Given the description of an element on the screen output the (x, y) to click on. 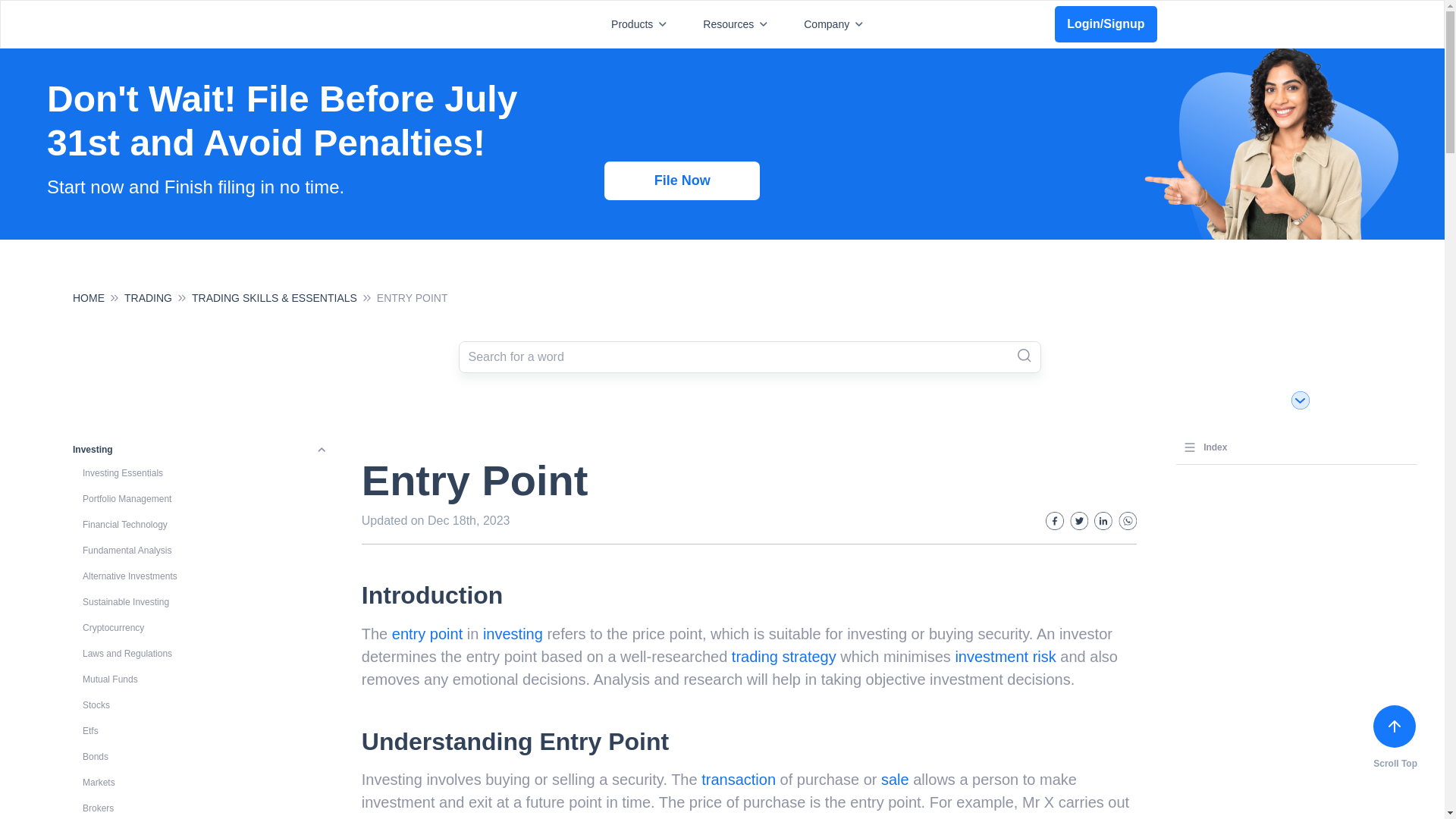
Company (836, 24)
Products (641, 24)
Resources (738, 24)
